Given the description of an element on the screen output the (x, y) to click on. 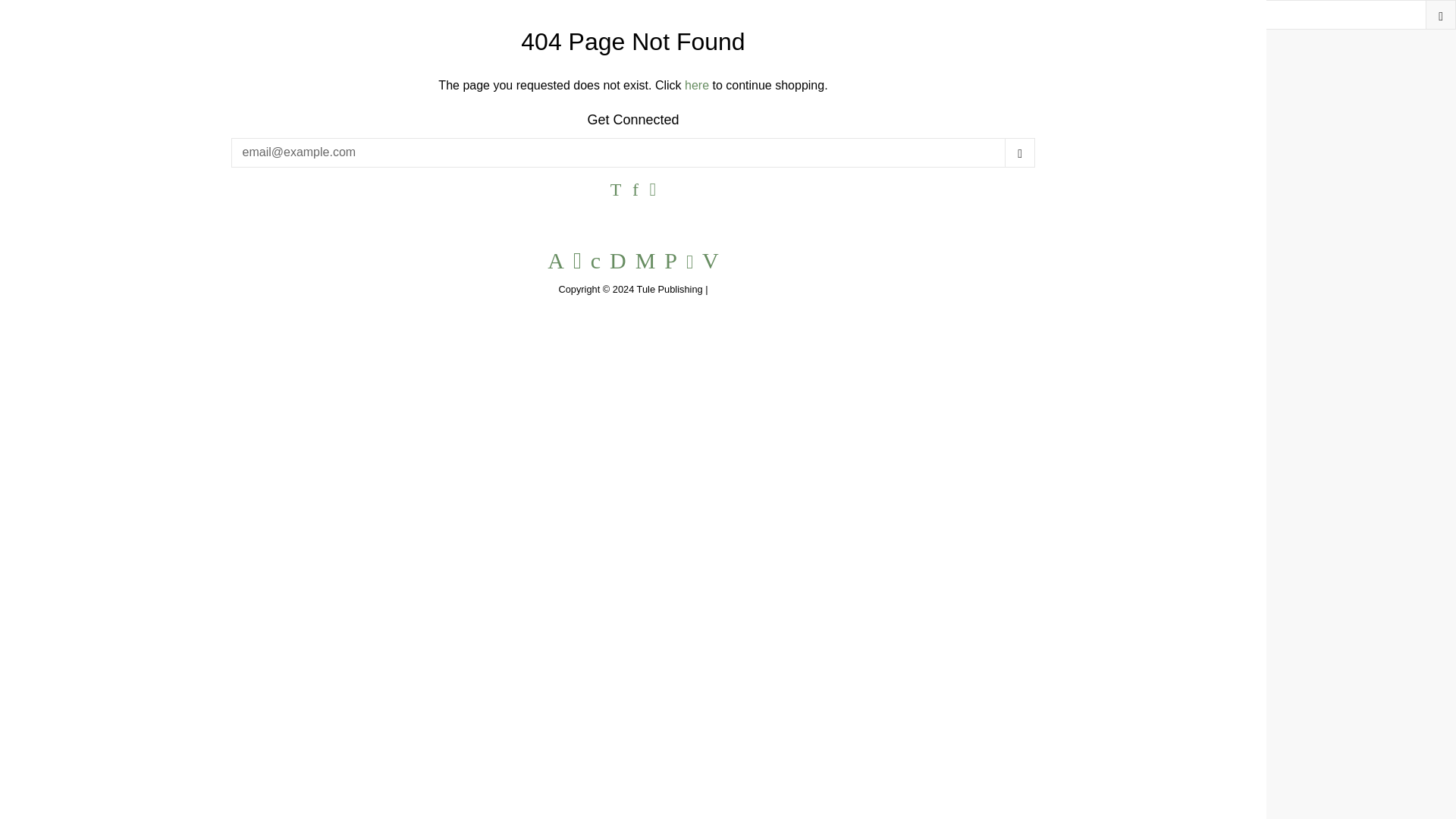
SEARCH (1440, 14)
